Given the description of an element on the screen output the (x, y) to click on. 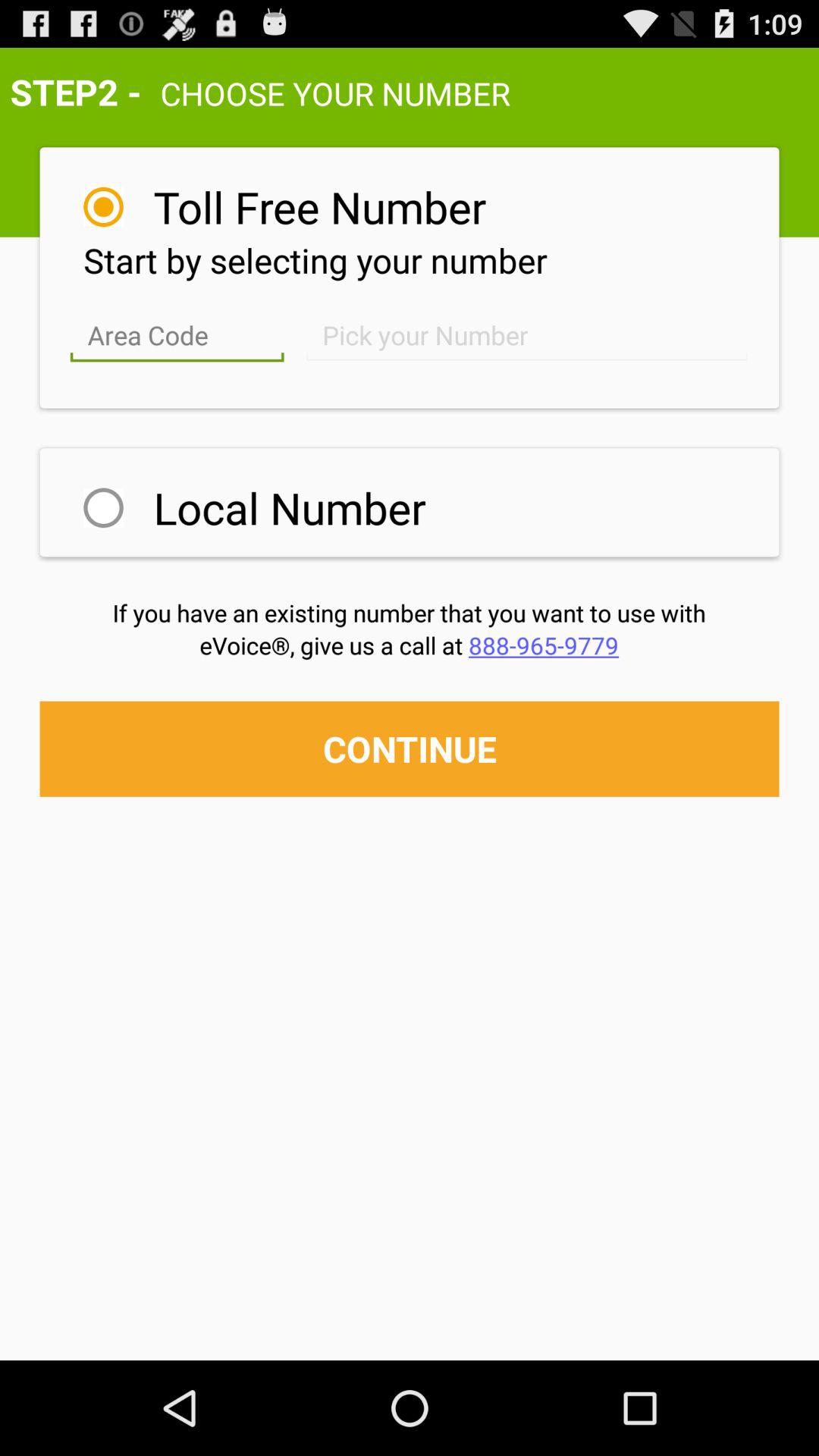
swipe until evoice give us app (408, 645)
